Given the description of an element on the screen output the (x, y) to click on. 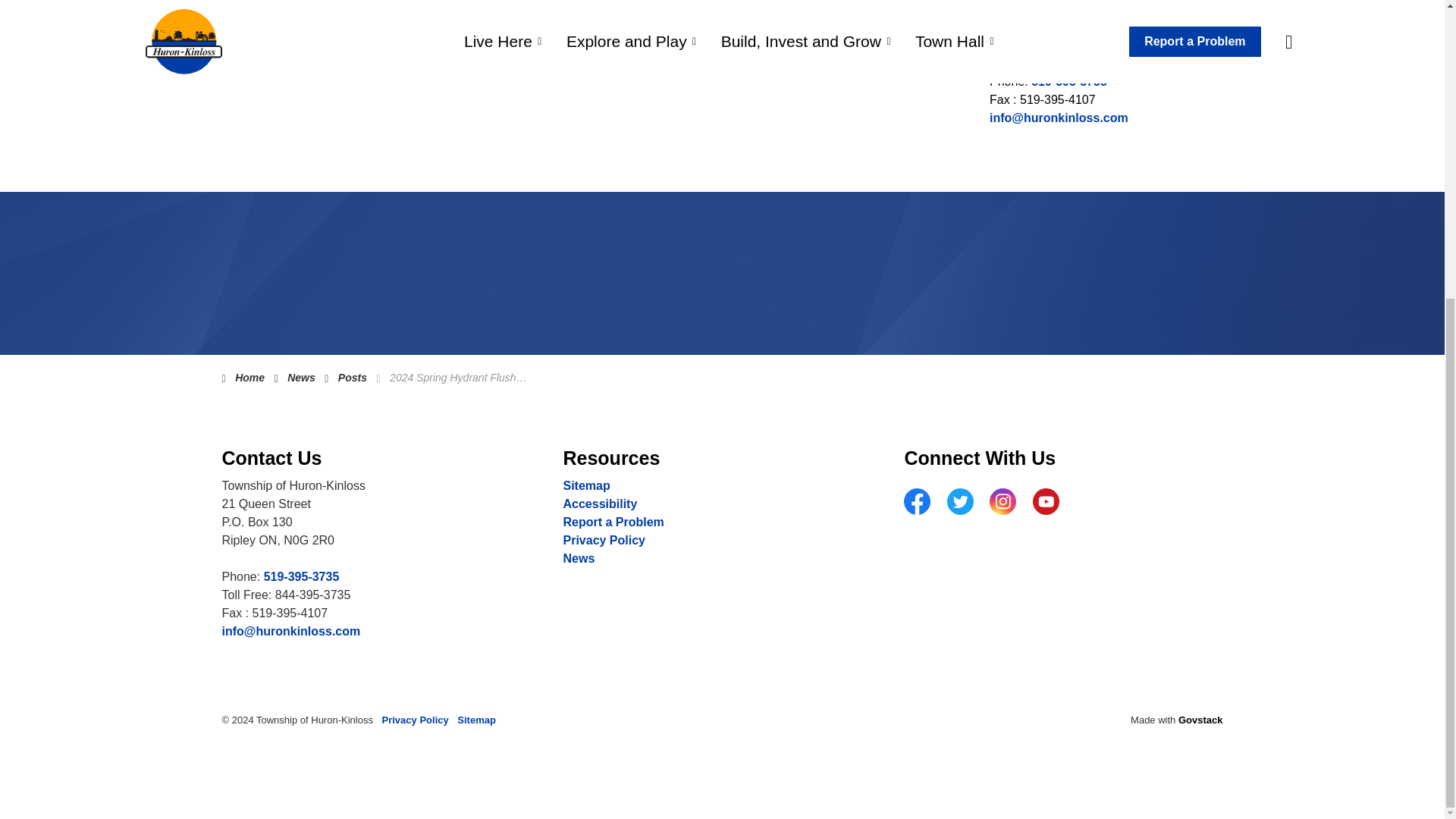
Report a Problem (612, 521)
Privacy Policy (603, 540)
Sitemap (586, 485)
News (578, 558)
Accessibility (599, 503)
